Given the description of an element on the screen output the (x, y) to click on. 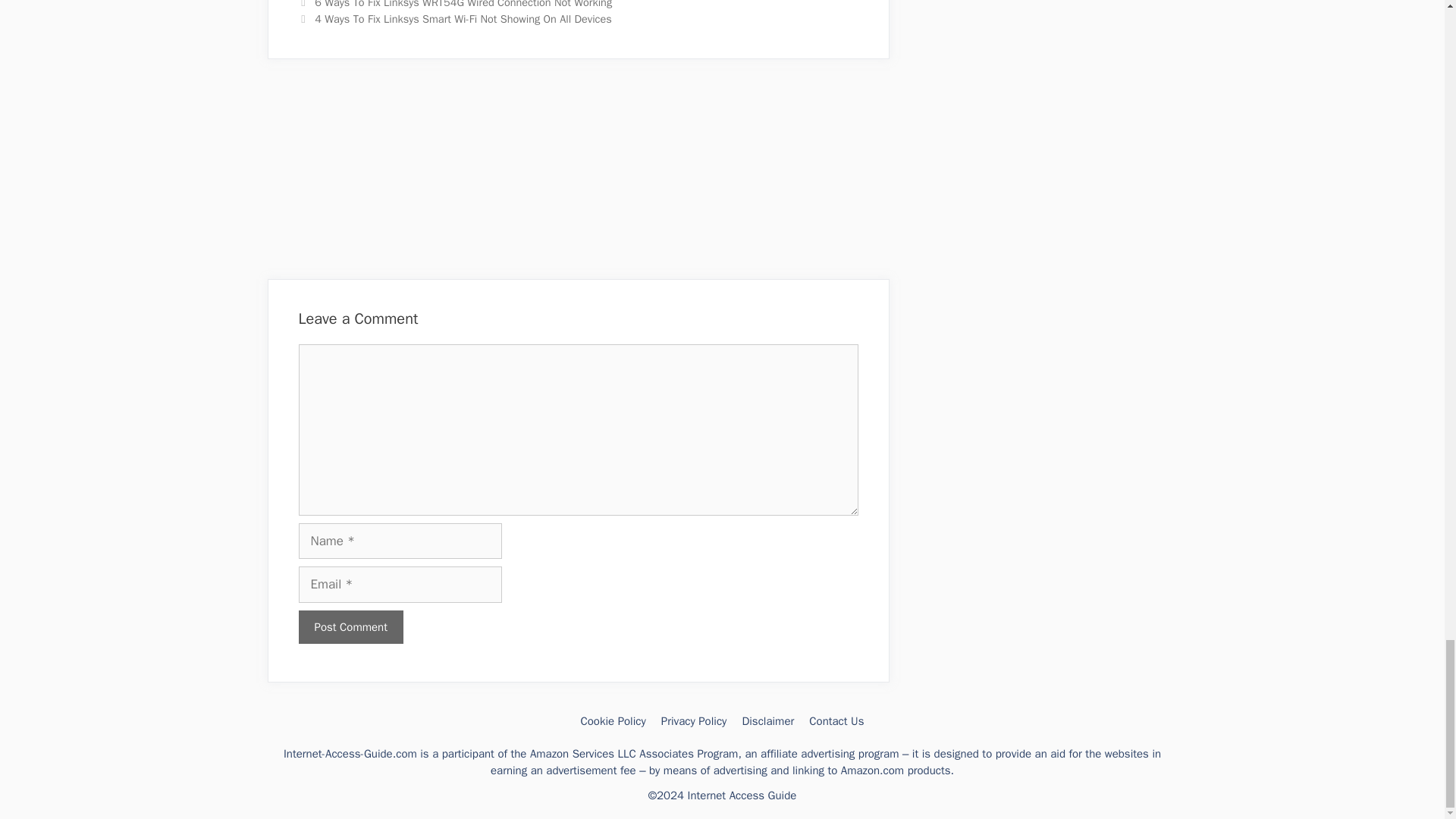
Previous (455, 4)
Next (454, 18)
Post Comment (350, 627)
